Given the description of an element on the screen output the (x, y) to click on. 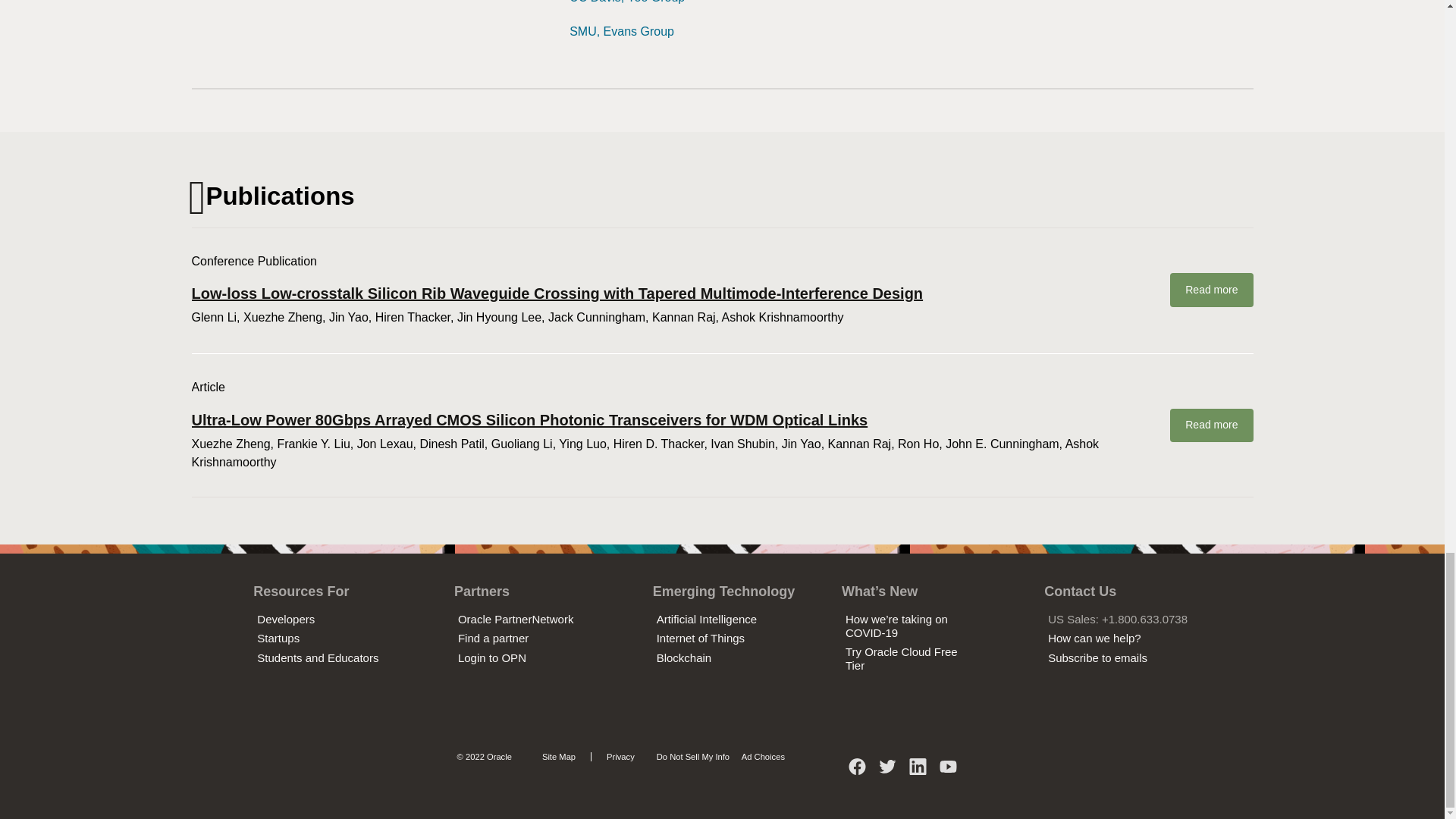
SMU, Evans Group (621, 31)
Follow Oracle on Twitter (887, 771)
Watch Oracle on YouTube (948, 771)
Oracle on Facebook (857, 771)
Read more (1211, 289)
Oracle on LinkedIn (918, 771)
UC Davis, Yoo Group (626, 2)
Read more (1211, 425)
